Given the description of an element on the screen output the (x, y) to click on. 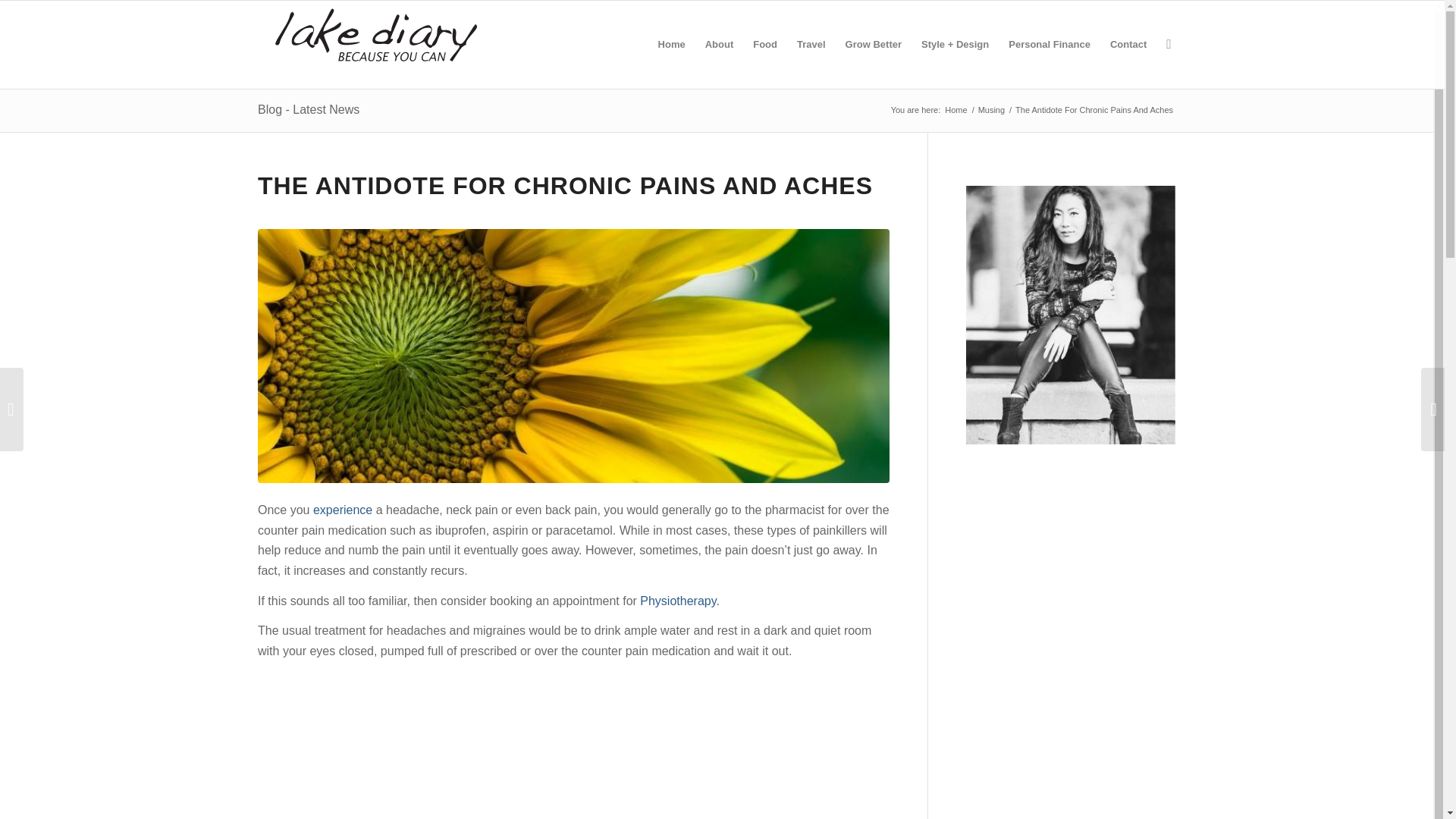
Physiotherapy (678, 600)
Personal Finance (1049, 44)
Musing (991, 110)
experience (344, 509)
Blog - Latest News (308, 109)
lakediary-logo-3 (376, 44)
lakediary-logo-3 (376, 36)
Permanent Link: Blog - Latest News (308, 109)
Lake Diary (955, 110)
Advertisement (573, 745)
Home (955, 110)
